Given the description of an element on the screen output the (x, y) to click on. 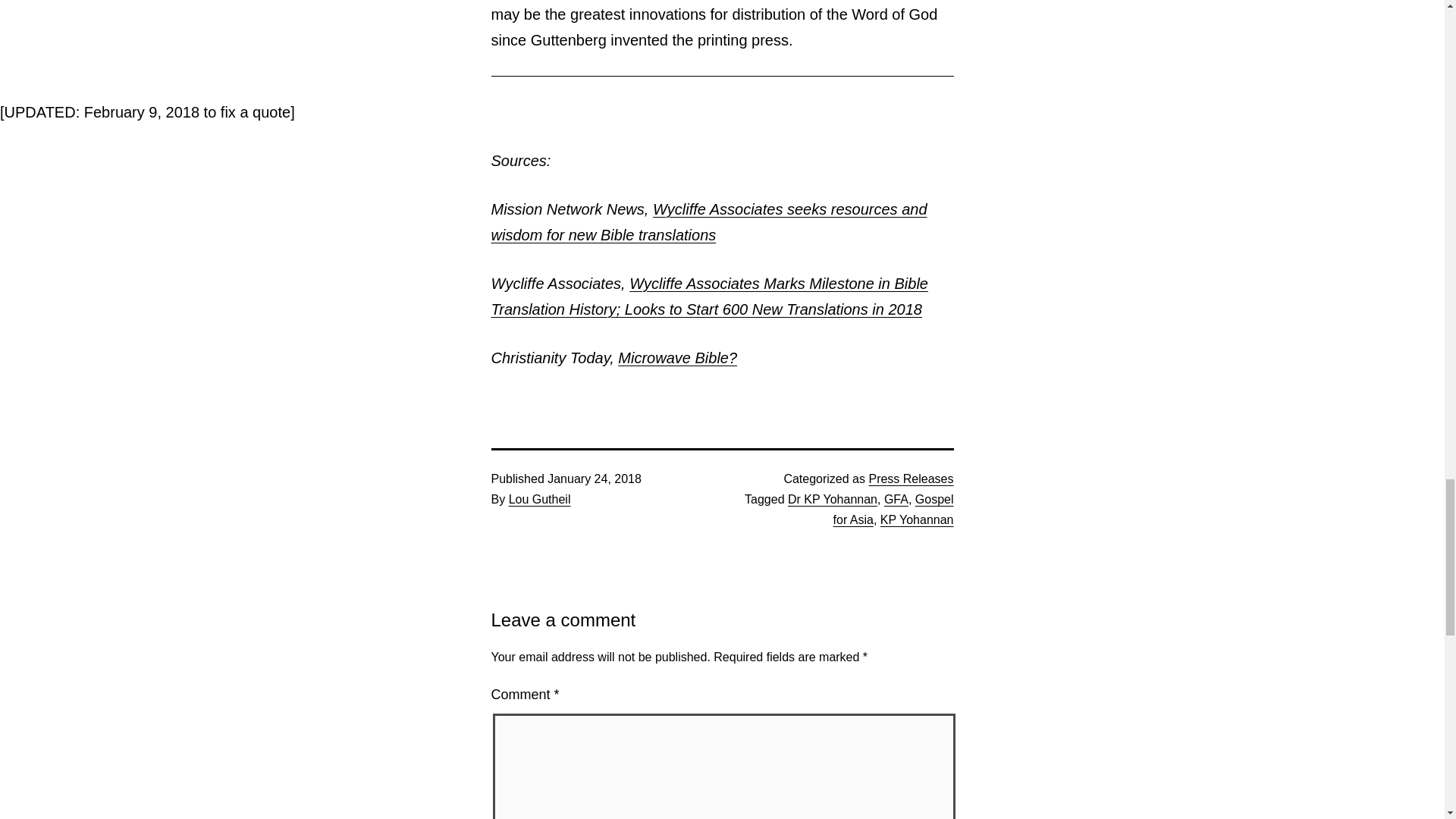
Lou Gutheil (539, 499)
Gospel for Asia (892, 509)
Dr KP Yohannan (832, 499)
GFA (895, 499)
Microwave Bible? (676, 357)
KP Yohannan (916, 519)
Press Releases (910, 478)
